Given the description of an element on the screen output the (x, y) to click on. 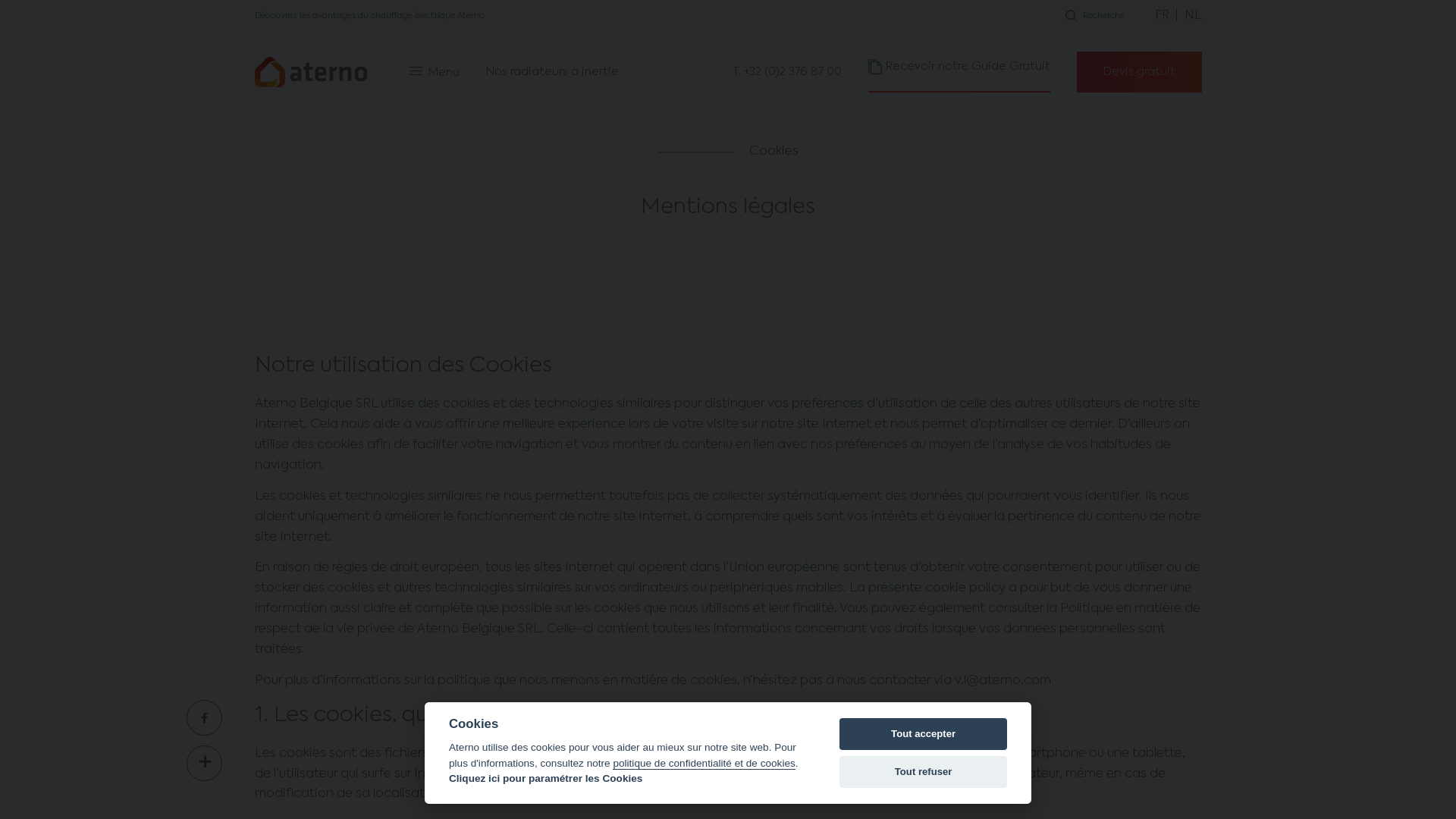
Tout refuser Element type: text (923, 771)
T. +32 (0)2 376 87 00 Element type: text (786, 71)
Recevoir notre Guide Gratuit Element type: text (958, 71)
+ Element type: text (204, 763)
Menu Element type: text (434, 72)
Devis gratuit Element type: text (1138, 71)
Facebook-f Element type: text (204, 717)
Tout accepter Element type: text (923, 733)
Recherche Element type: text (1094, 15)
NL Element type: text (1192, 15)
